Given the description of an element on the screen output the (x, y) to click on. 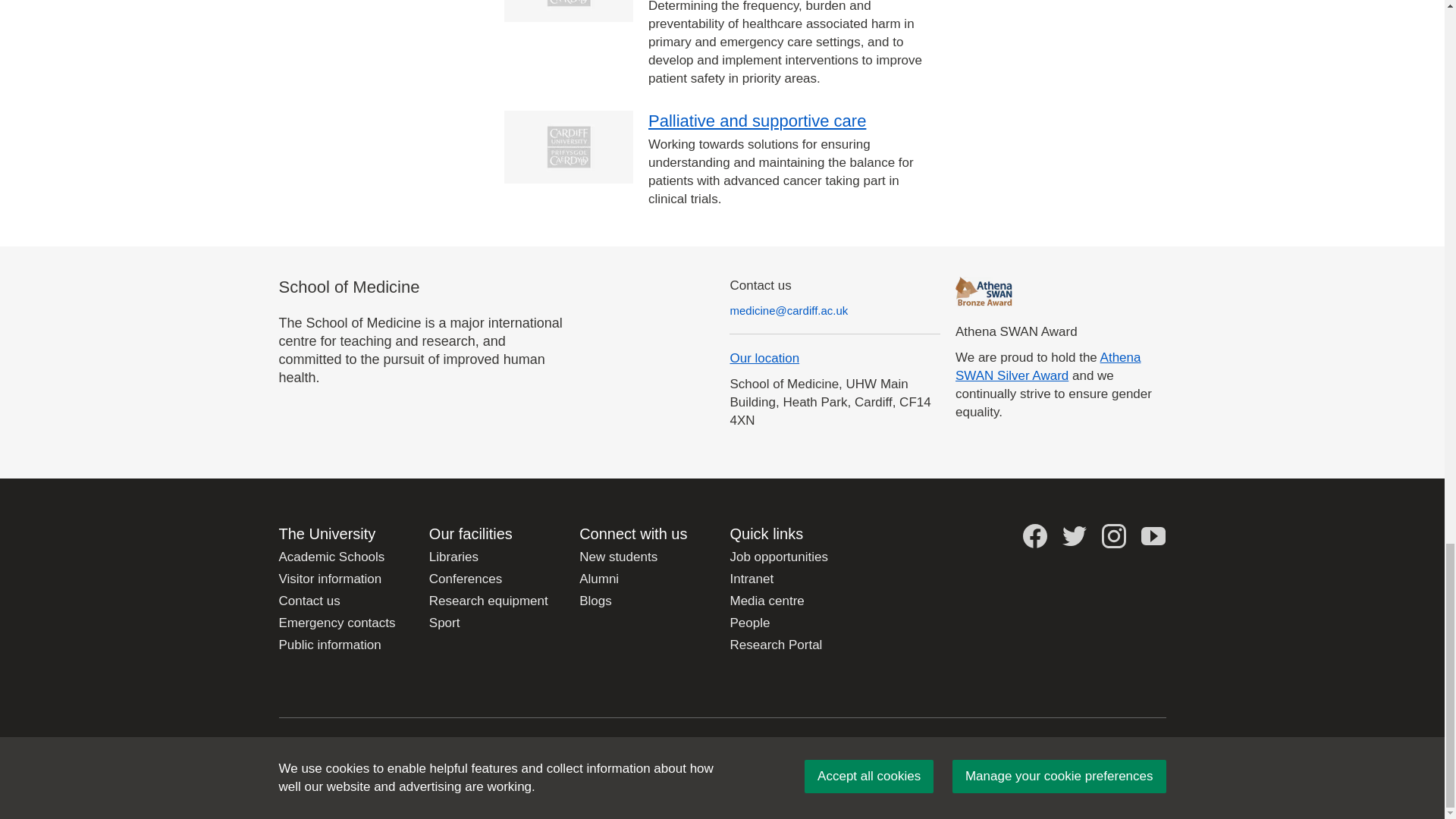
instagram (1113, 535)
Youtube (1153, 535)
twitter no background icon (1074, 535)
facebook (1034, 535)
